Given the description of an element on the screen output the (x, y) to click on. 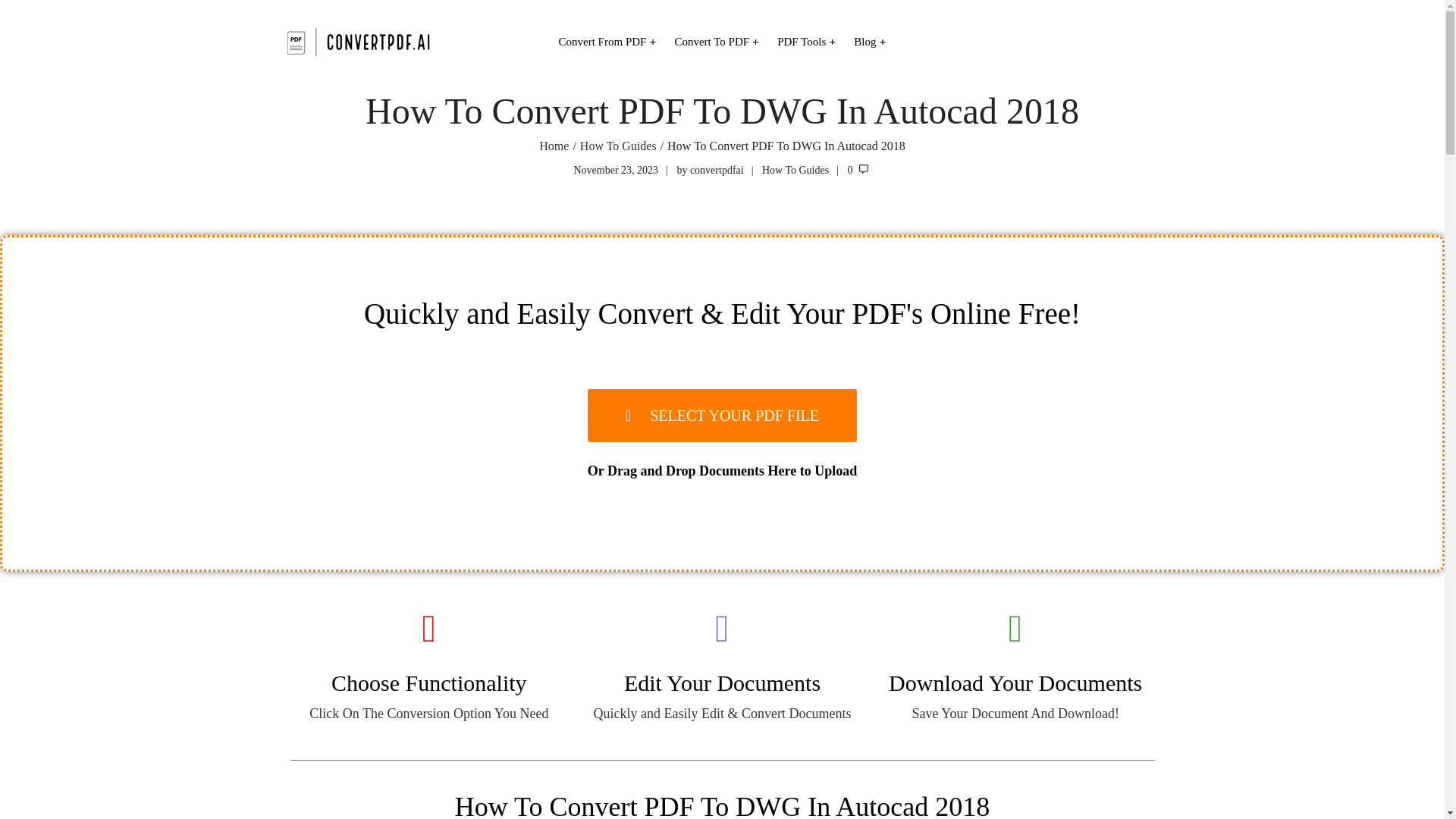
Convert From PDF (607, 41)
Convert To PDF (716, 41)
